Given the description of an element on the screen output the (x, y) to click on. 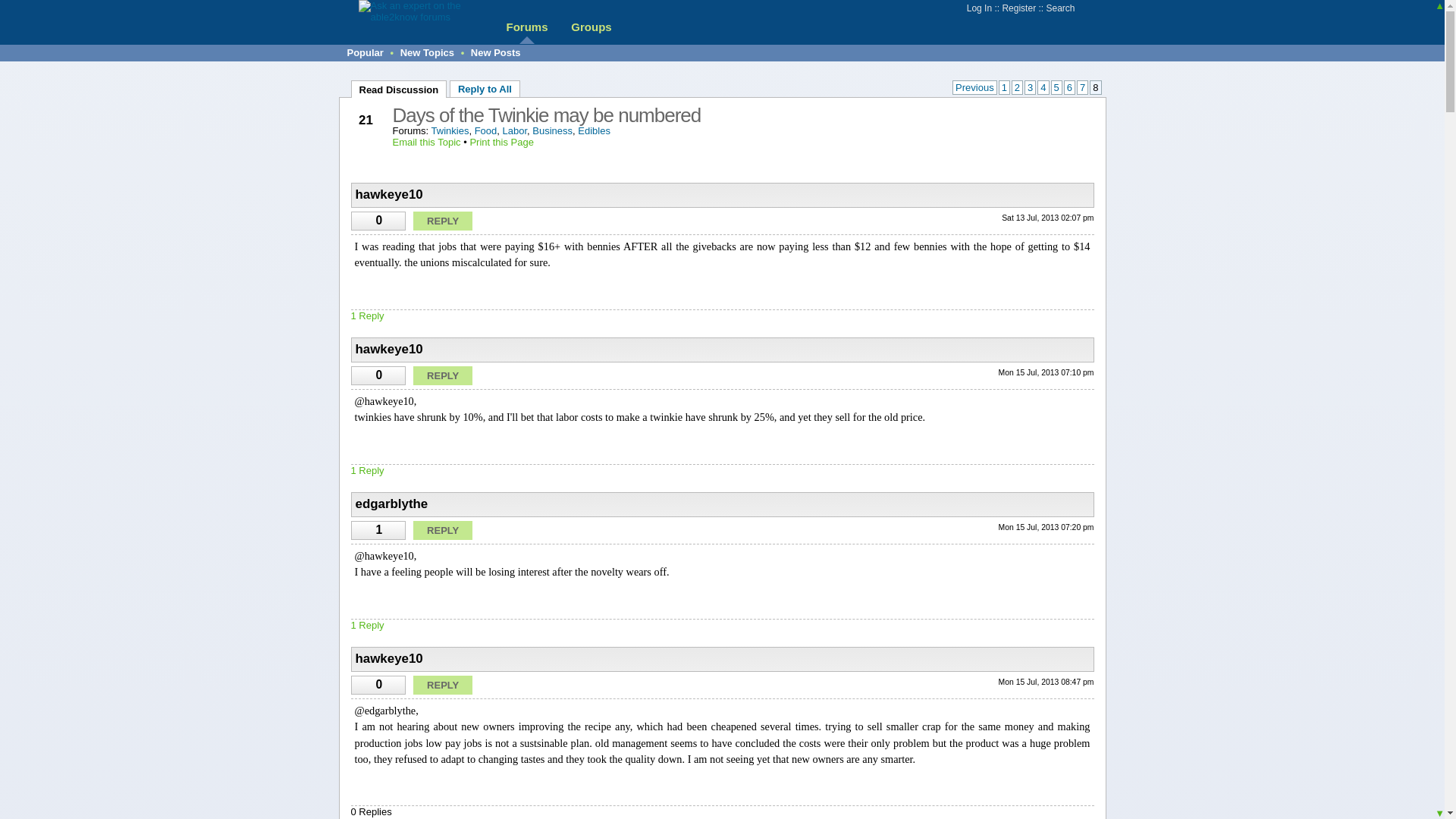
Groups (590, 26)
Edibles (594, 130)
Labor (514, 130)
Food Forum (485, 130)
Register (1018, 8)
Twinkies Forum (449, 130)
New Posts (495, 52)
Popular (365, 52)
Email this Topic (427, 142)
Search (1059, 8)
